Given the description of an element on the screen output the (x, y) to click on. 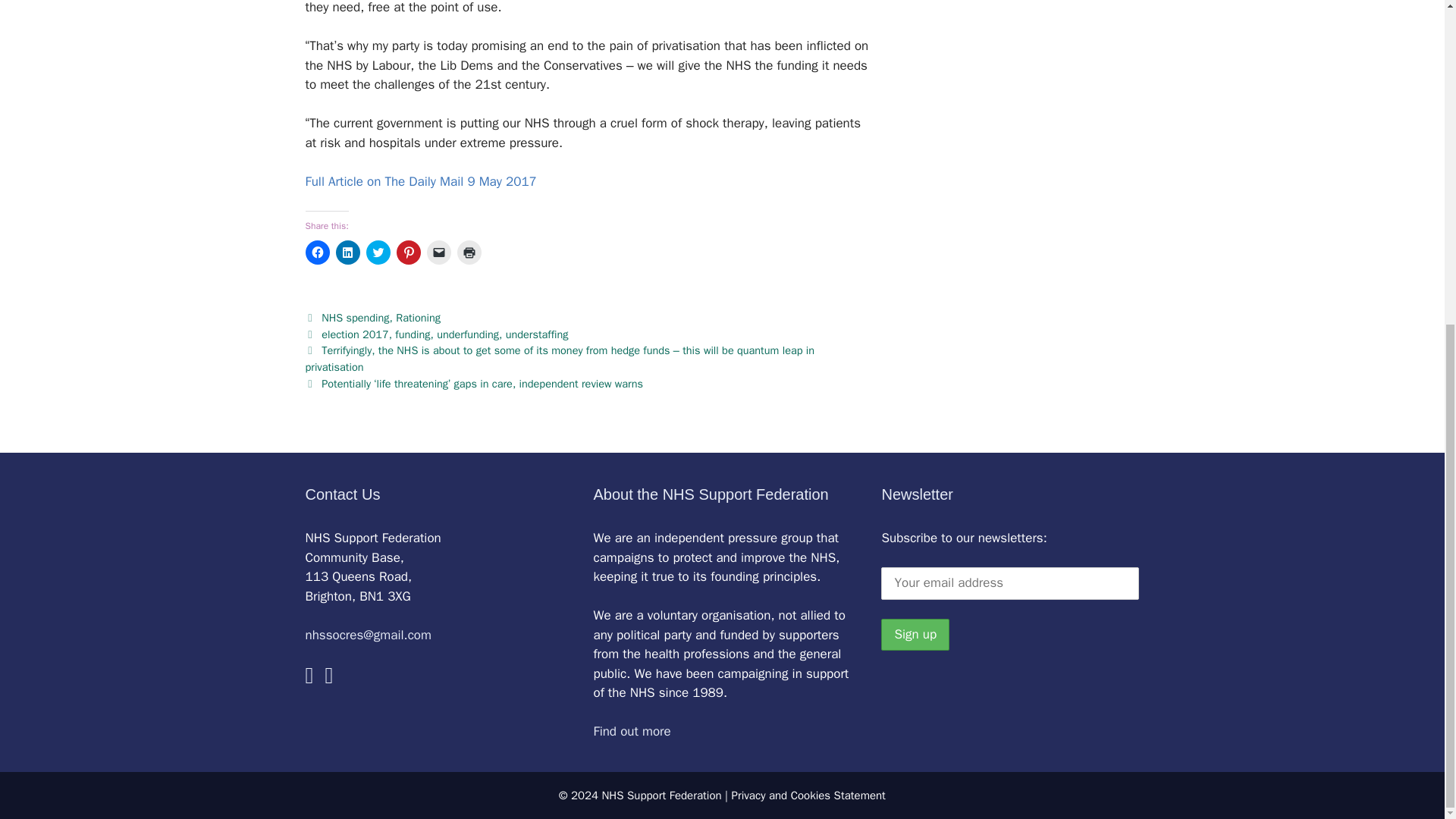
Click to share on Pinterest (408, 252)
Click to print (468, 252)
Sign up (914, 634)
Click to share on Twitter (377, 252)
Click to share on Facebook (316, 252)
Click to share on LinkedIn (346, 252)
Click to email a link to a friend (437, 252)
